Given the description of an element on the screen output the (x, y) to click on. 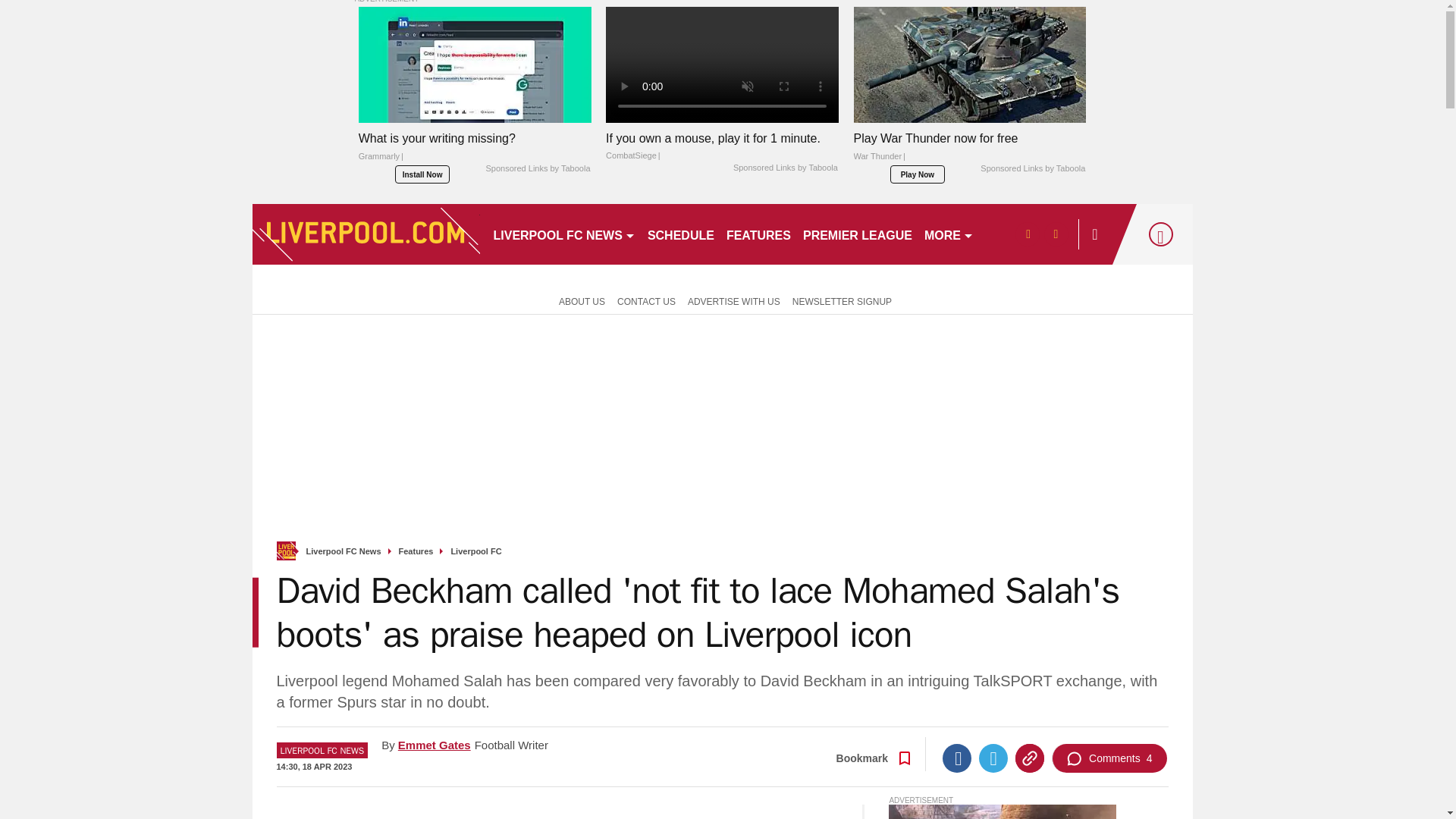
Features (415, 551)
LIVERPOOL FC NEWS (563, 233)
frontpage (285, 550)
Sponsored Links by Taboola (785, 167)
Liverpool FC News (343, 551)
Play War Thunder now for free (969, 151)
liverpool (365, 233)
Comments (1108, 758)
SCHEDULE (681, 233)
FEATURES (758, 233)
facebook (1026, 233)
NEWSLETTER SIGNUP (842, 300)
Install Now (421, 174)
What is your writing missing? (474, 64)
Twitter (992, 758)
